Given the description of an element on the screen output the (x, y) to click on. 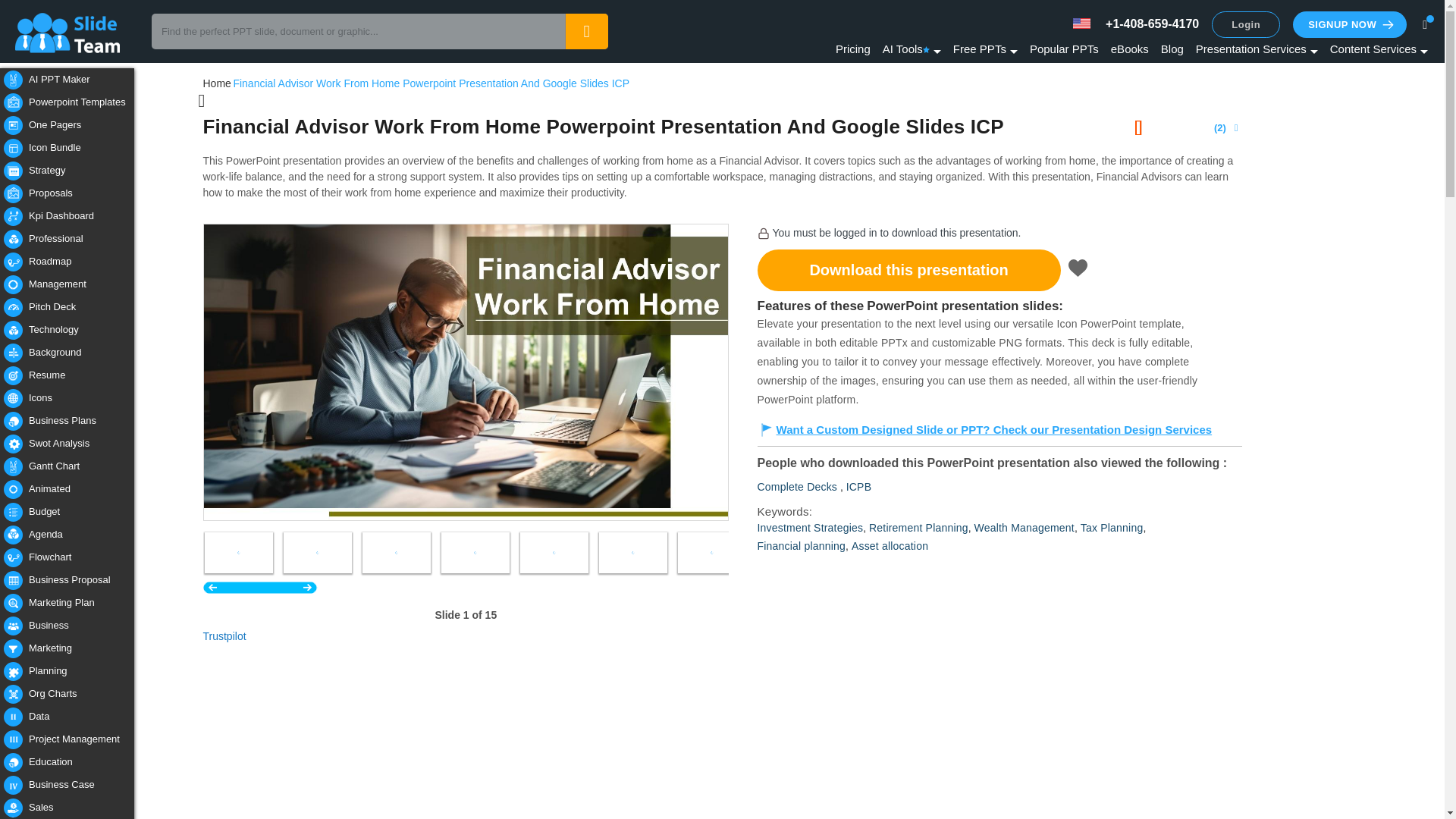
Presentation Services (1256, 48)
SlideTeam (80, 32)
Free PPTs (985, 48)
Pricing (852, 48)
Find the perfect ppt slide, document or graphic... (379, 31)
eBooks (1129, 48)
Search (586, 31)
SIGNUP NOW (1349, 24)
Free PPTs (985, 48)
Login (1245, 24)
Blog (1171, 48)
Search (586, 31)
Most Downloaded (1064, 48)
Presentation Services (1256, 48)
Pricing (852, 48)
